Given the description of an element on the screen output the (x, y) to click on. 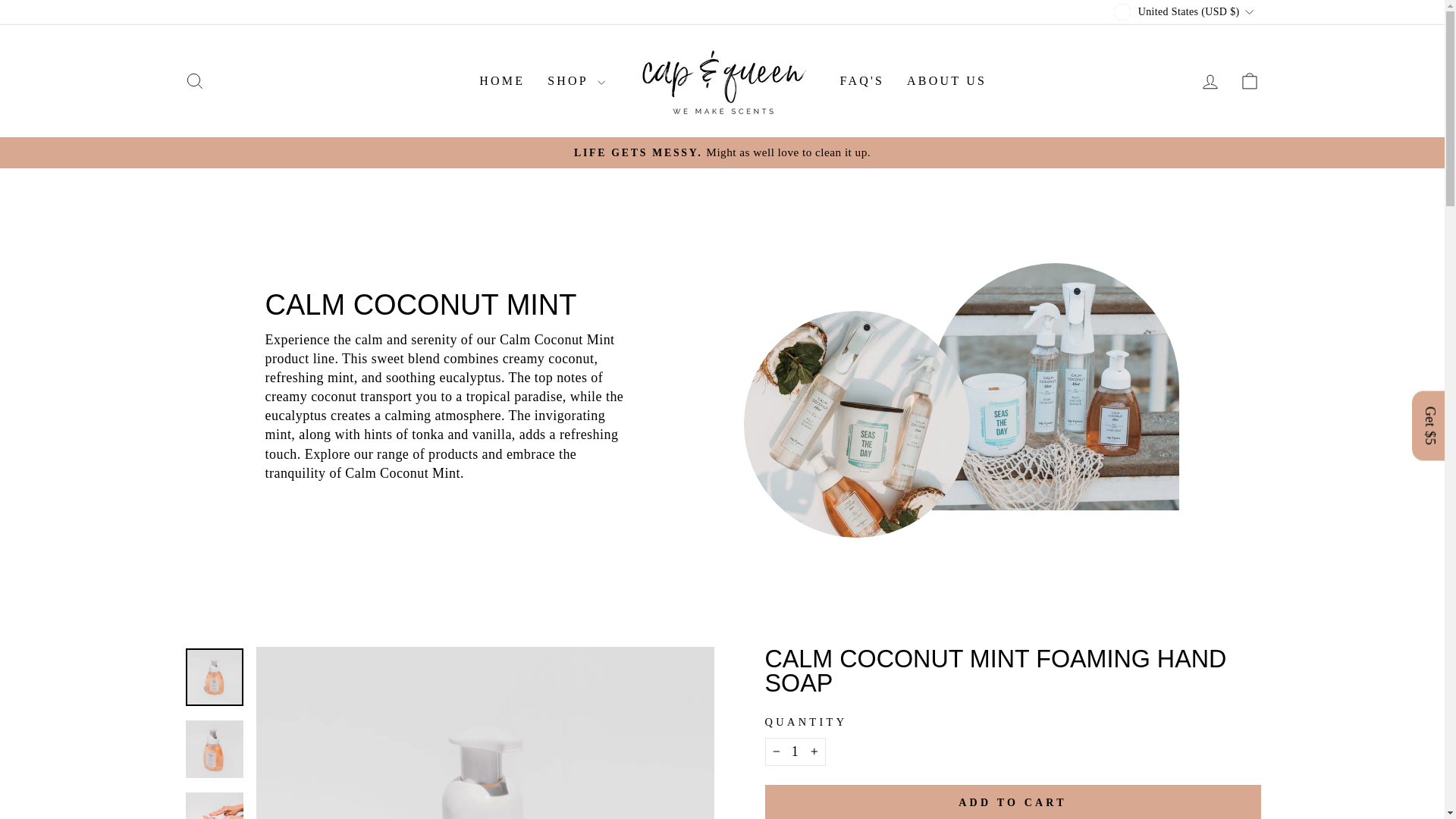
ACCOUNT (1210, 81)
ICON-BAG-MINIMAL (1249, 80)
ICON-SEARCH (194, 80)
HOME (501, 81)
1 (794, 751)
